Given the description of an element on the screen output the (x, y) to click on. 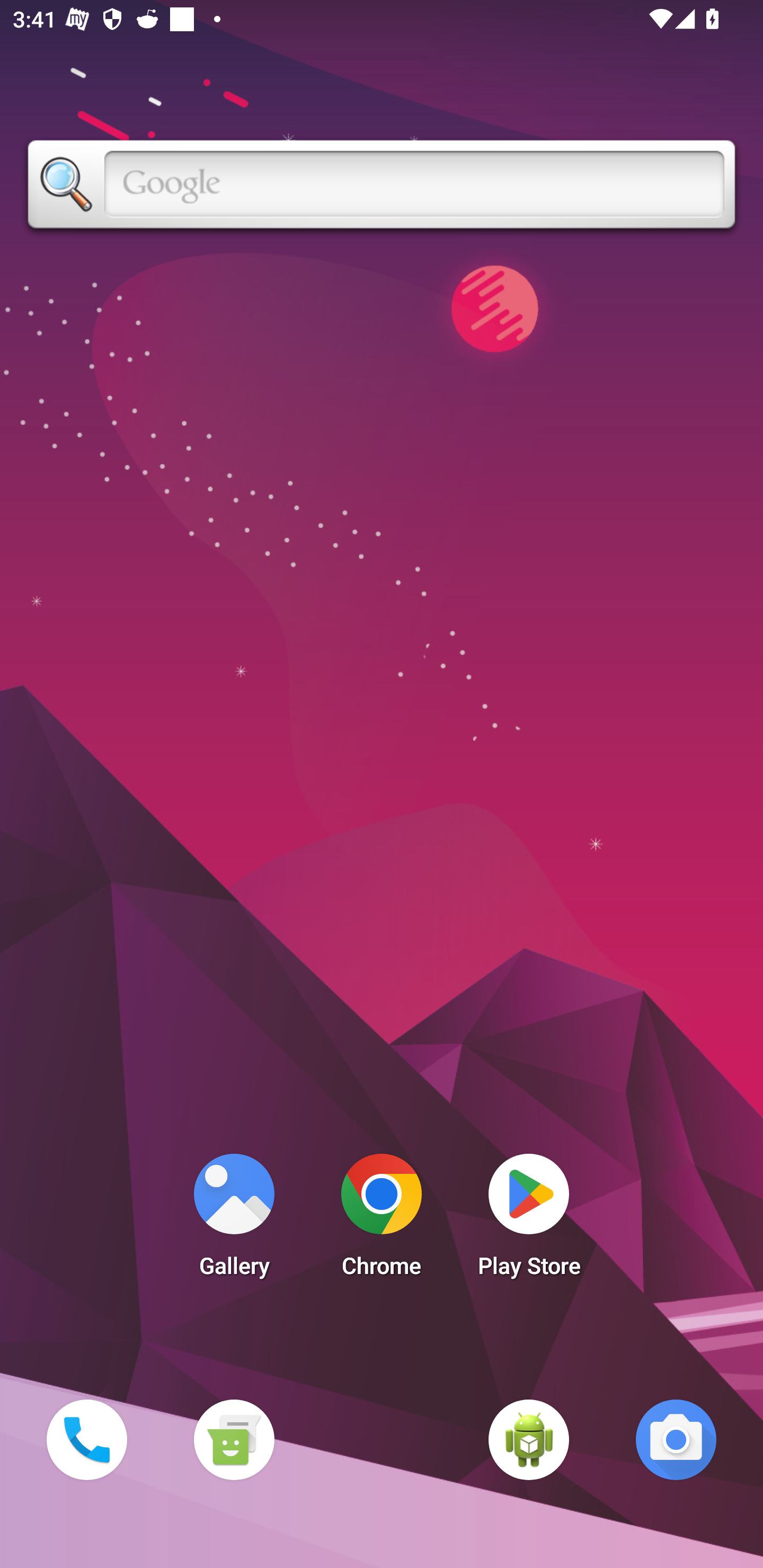
Gallery (233, 1220)
Chrome (381, 1220)
Play Store (528, 1220)
Phone (86, 1439)
Messaging (233, 1439)
WebView Browser Tester (528, 1439)
Camera (676, 1439)
